Given the description of an element on the screen output the (x, y) to click on. 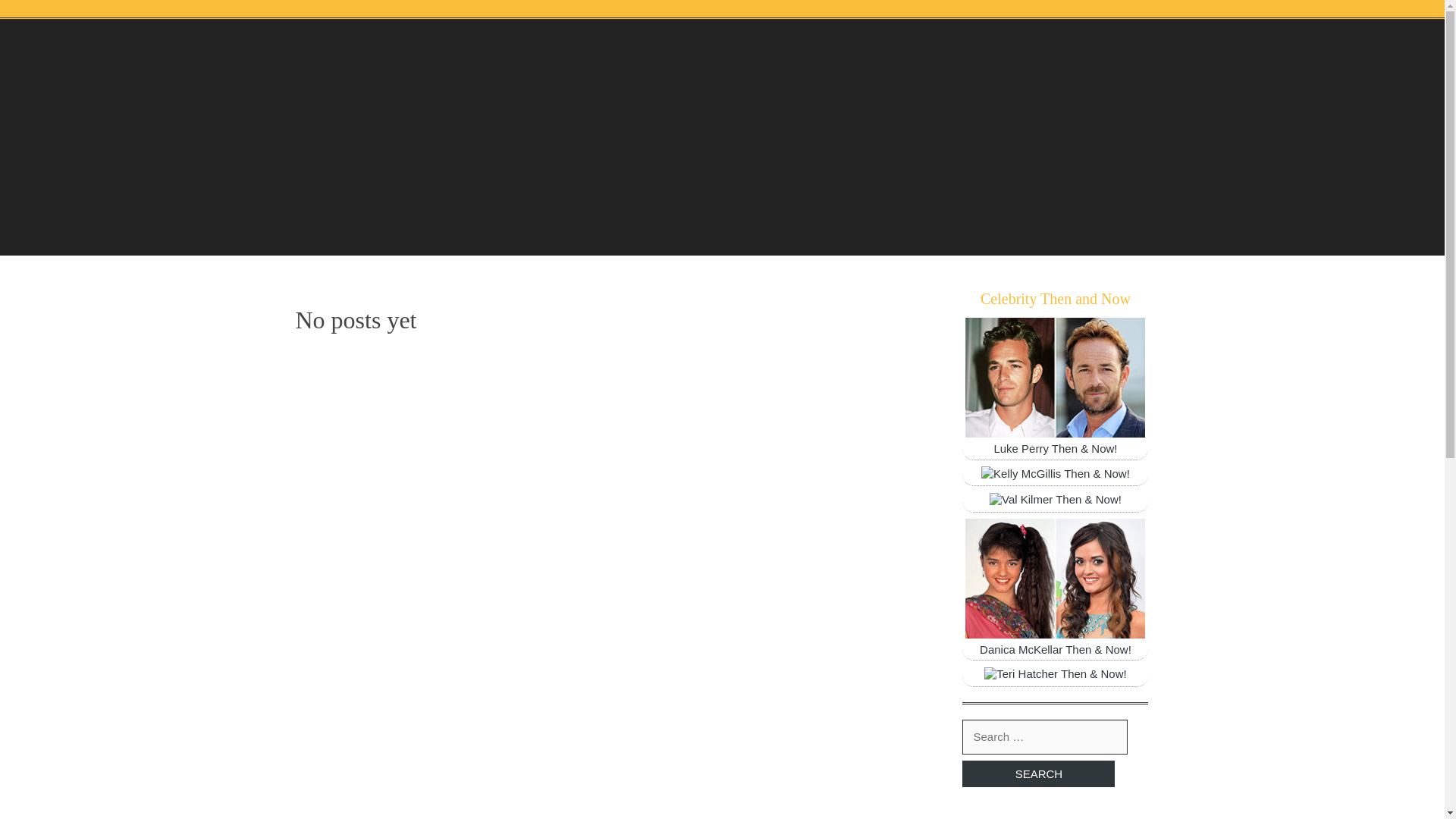
Search (1038, 773)
Skip to content (37, 10)
Search (1038, 773)
Search (1038, 773)
